Given the description of an element on the screen output the (x, y) to click on. 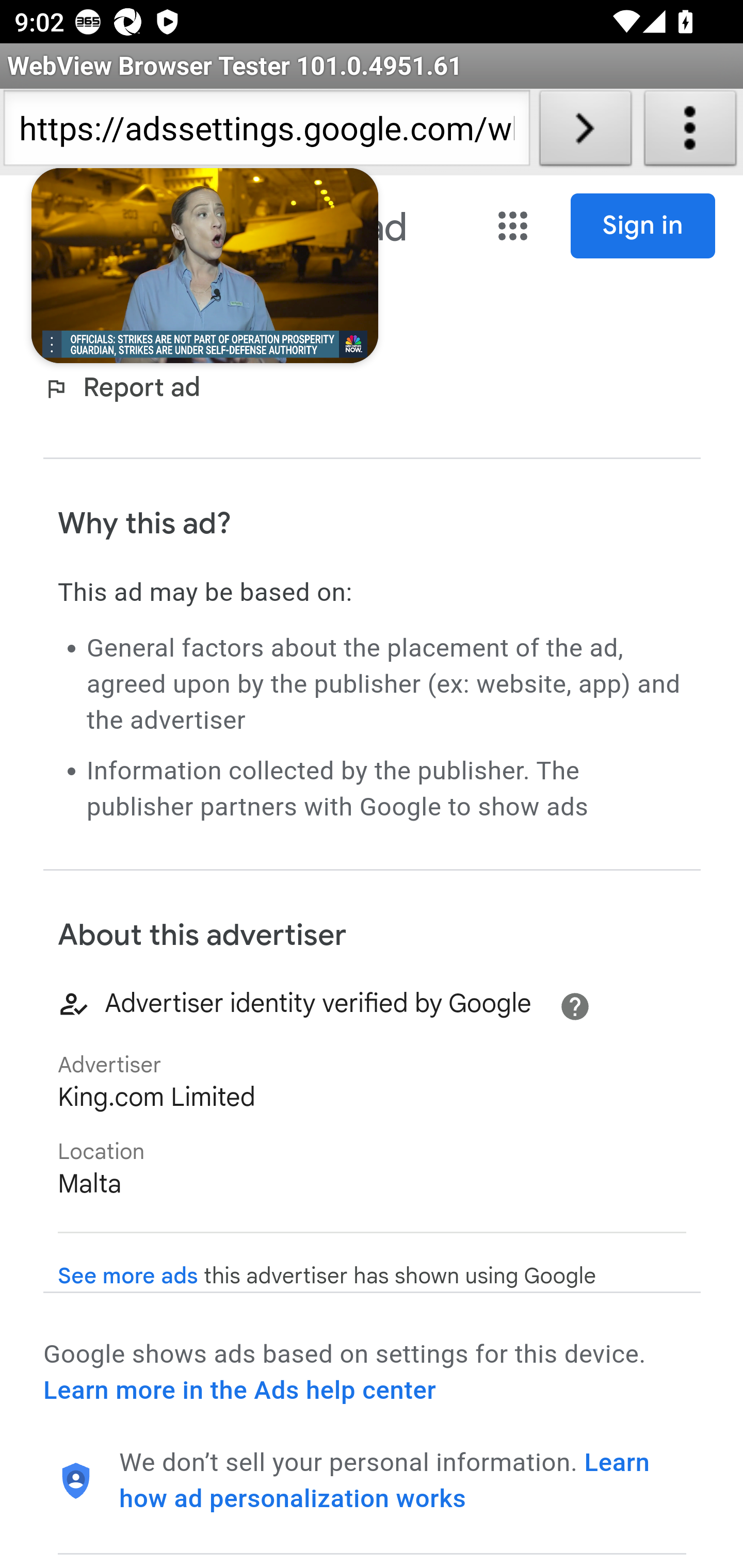
https://adssettings.google.com/whythisad (266, 132)
Load URL (585, 132)
About WebView (690, 132)
Google apps (513, 226)
Sign in (643, 226)
Report ad (opens in new tab) Report ad (126, 388)
See more ads (opens in new tab) See more ads (127, 1276)
Learn more in the Ads help center (239, 1389)
Learn how ad personalization works (384, 1479)
